Given the description of an element on the screen output the (x, y) to click on. 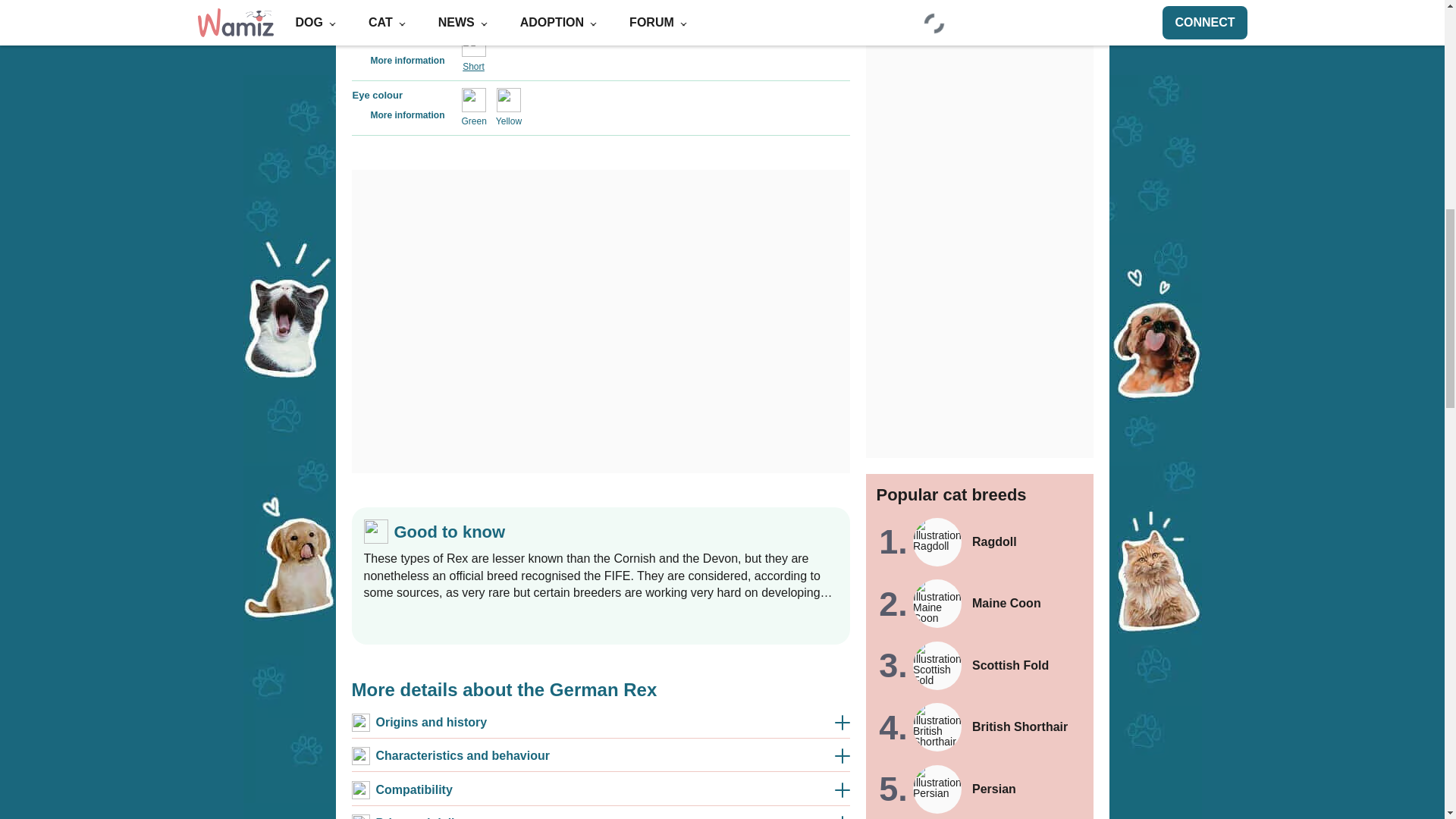
see image information (358, 60)
see image information (358, 5)
See the Maine Coon breed sheet (979, 4)
See the Scottish Fold breed sheet (979, 45)
See the British Shorthair breed sheet (979, 107)
see image information (358, 114)
See all cat breeds (979, 221)
See the Persian breed sheet (979, 168)
